Given the description of an element on the screen output the (x, y) to click on. 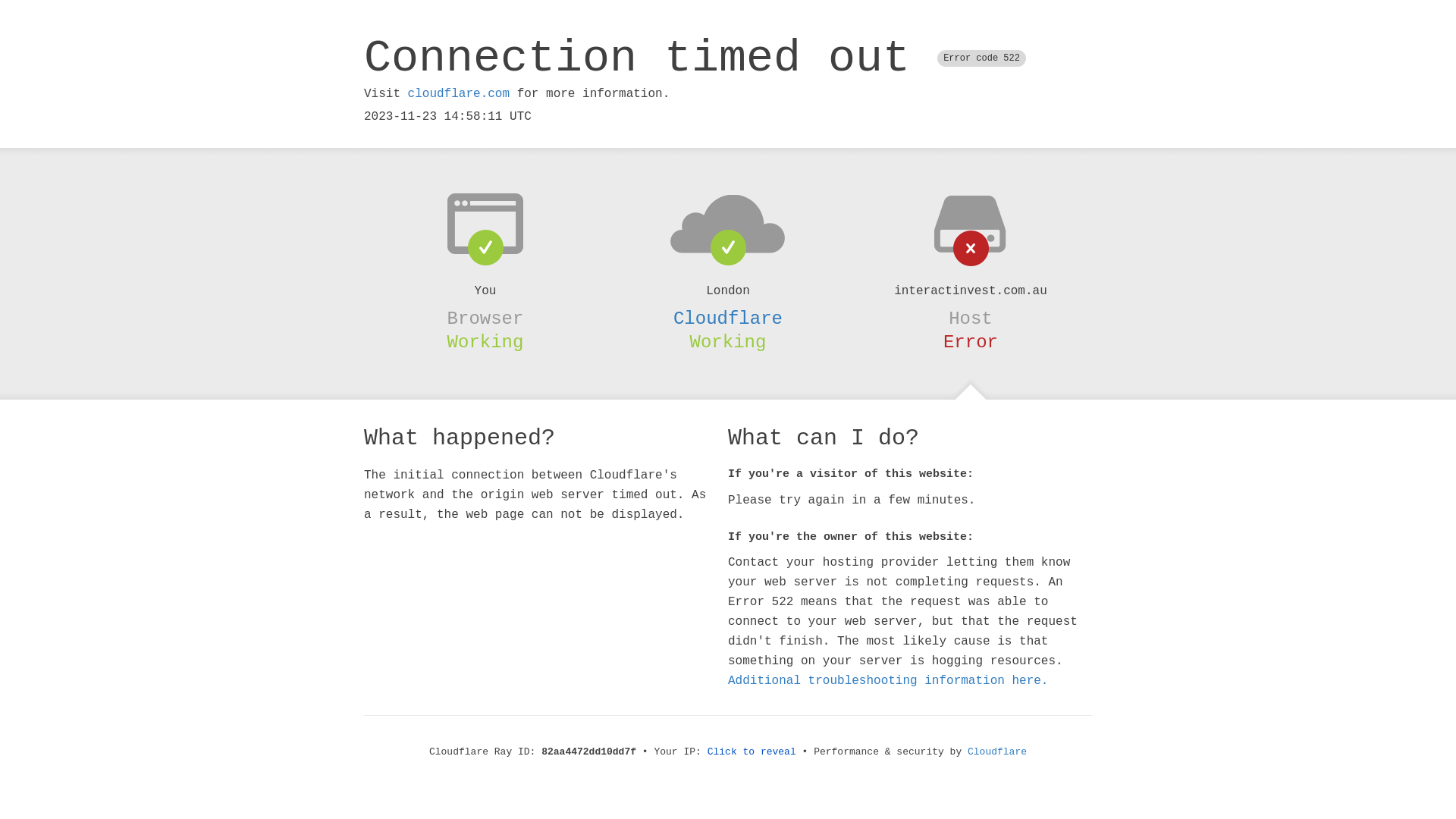
Click to reveal Element type: text (751, 751)
Cloudflare Element type: text (996, 751)
cloudflare.com Element type: text (458, 93)
Additional troubleshooting information here. Element type: text (888, 680)
Cloudflare Element type: text (727, 318)
